Given the description of an element on the screen output the (x, y) to click on. 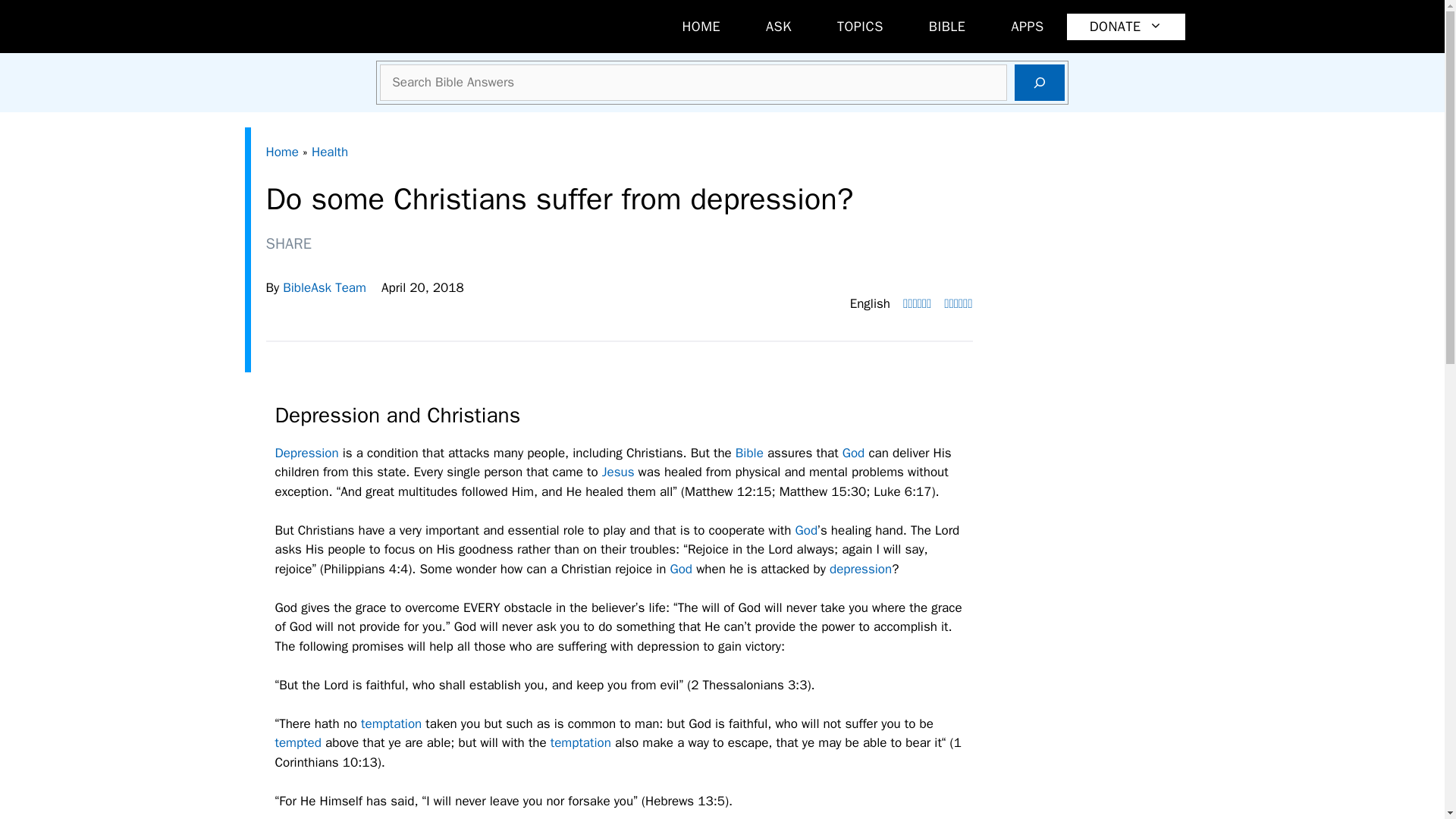
BibleAsk Team (324, 286)
temptation (580, 742)
Health (329, 151)
ASK (777, 26)
temptation (391, 723)
HOME (700, 26)
depression (860, 569)
God (853, 453)
Jesus (618, 471)
God (681, 569)
God (806, 530)
APPS (1026, 26)
God (681, 569)
Bible (748, 453)
God (853, 453)
